Given the description of an element on the screen output the (x, y) to click on. 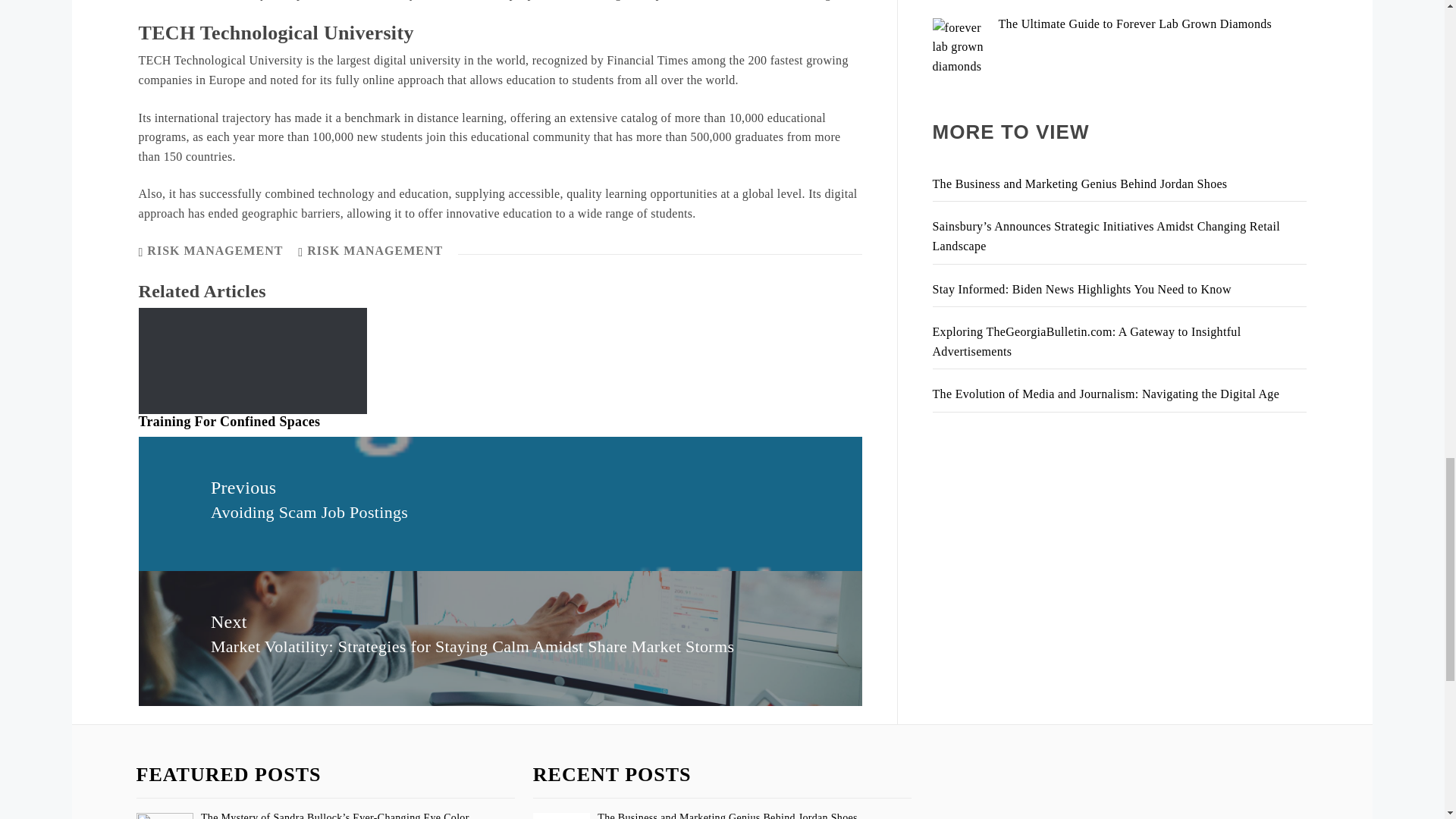
RISK MANAGEMENT (374, 250)
RISK MANAGEMENT (214, 250)
forever lab grown diamonds (961, 46)
Training For Confined Spaces (229, 421)
Jordan Shoes (560, 816)
